Given the description of an element on the screen output the (x, y) to click on. 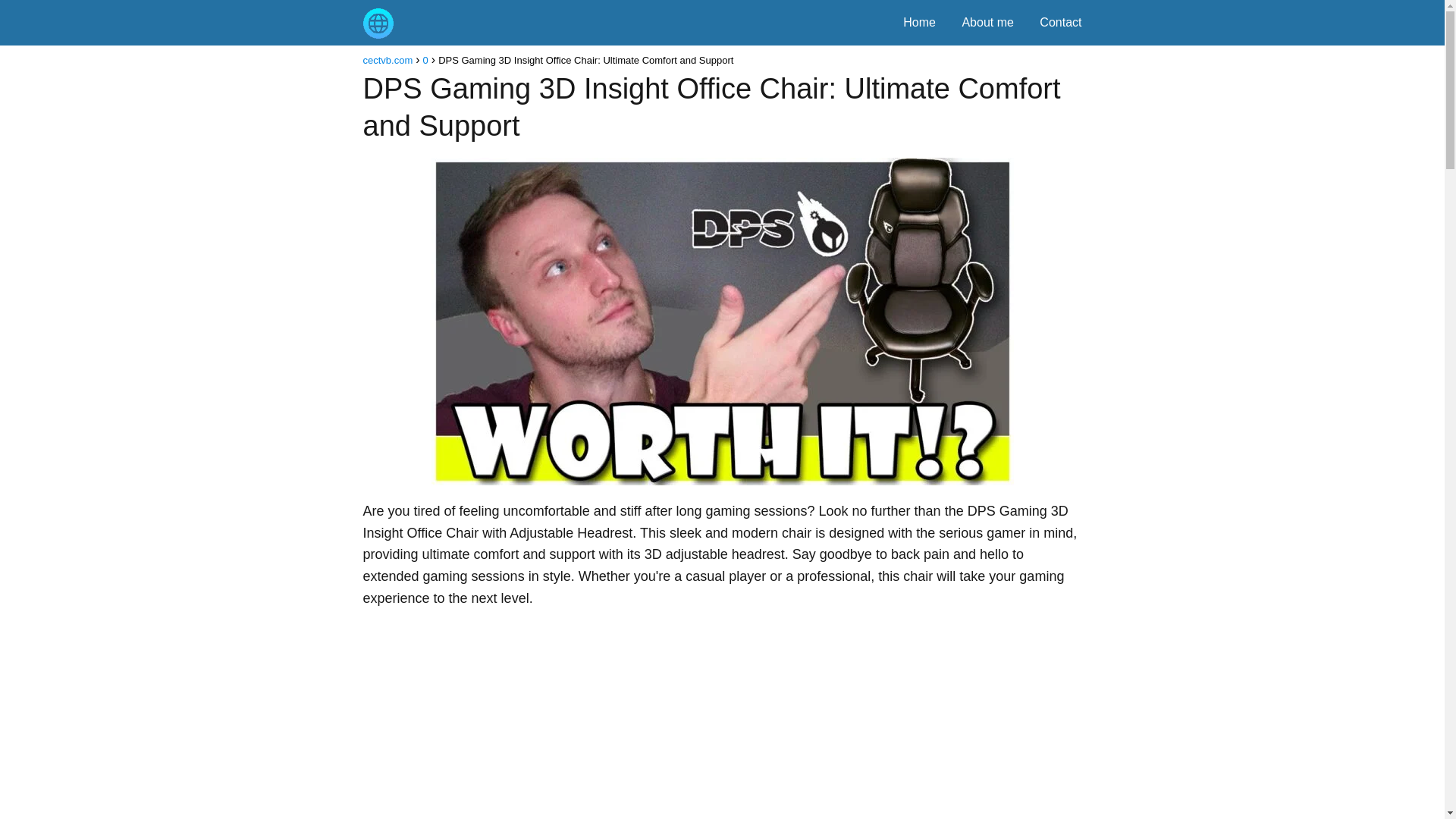
0 (425, 60)
About me (986, 21)
Contact (1060, 21)
Home (919, 21)
cectvb.com (387, 60)
